Given the description of an element on the screen output the (x, y) to click on. 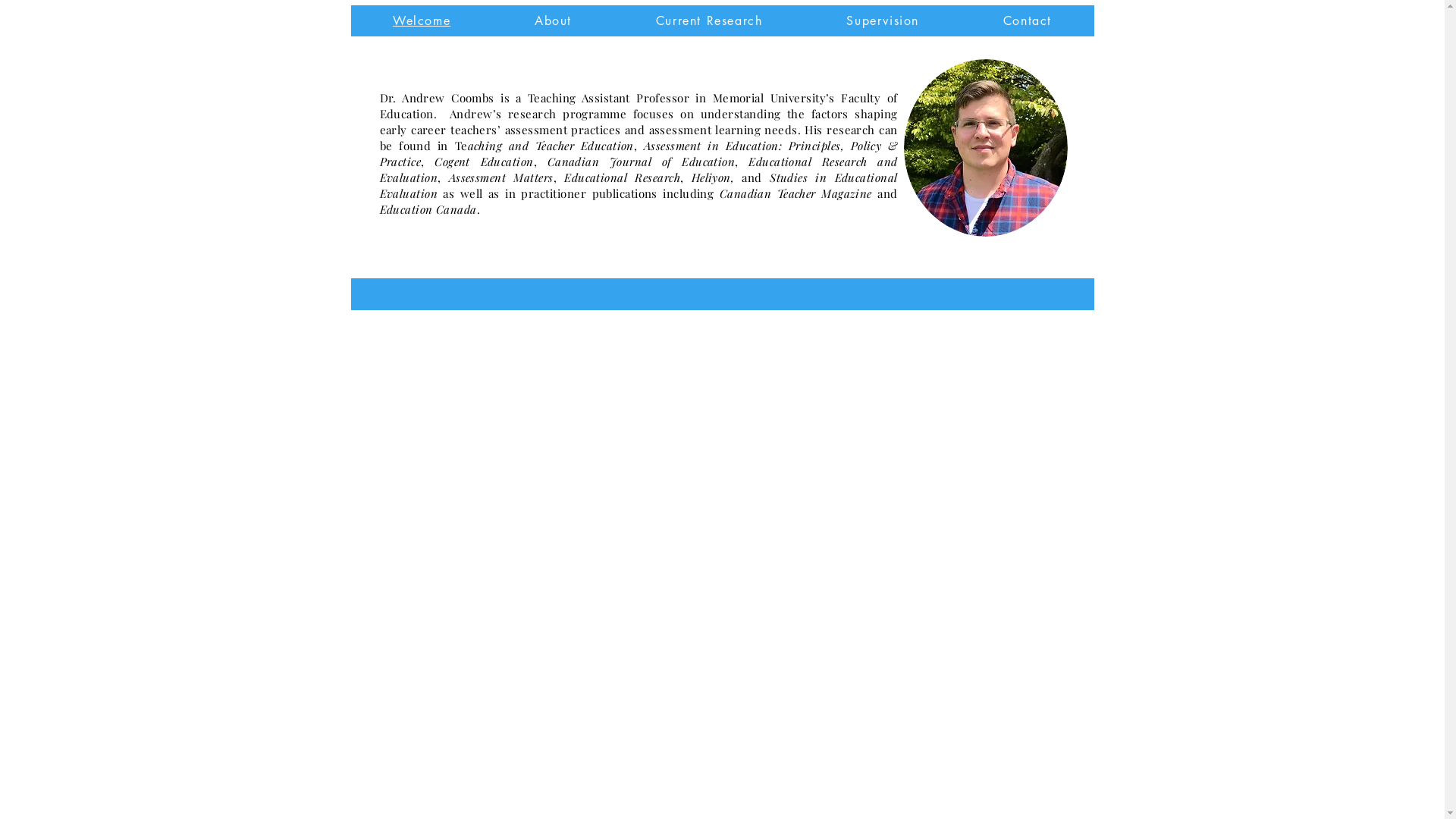
Welcome Element type: text (421, 20)
About Element type: text (553, 20)
Supervision Element type: text (882, 20)
Contact Element type: text (1026, 20)
Current Research Element type: text (708, 20)
